Given the description of an element on the screen output the (x, y) to click on. 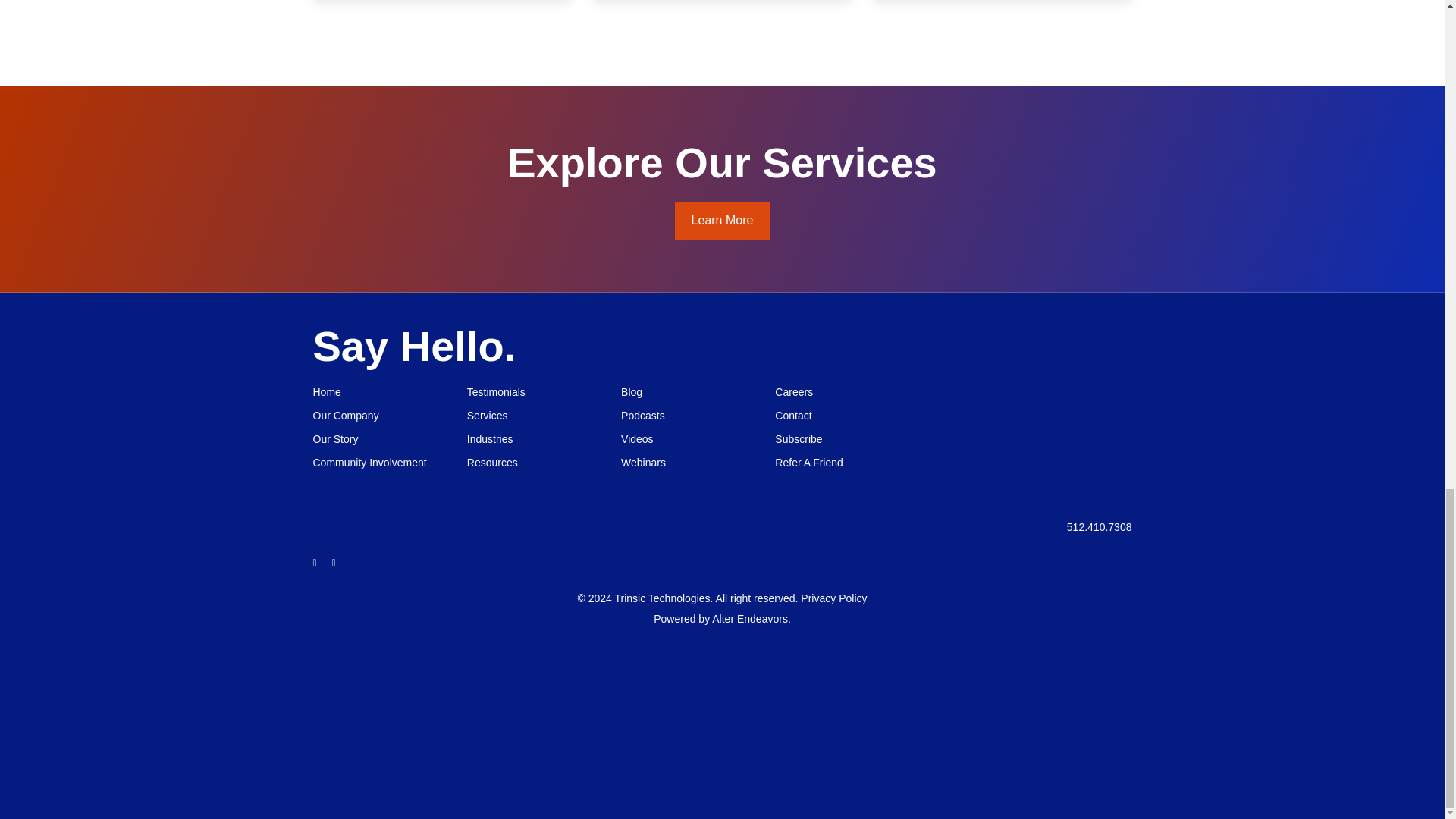
Home (374, 388)
Our Company (374, 412)
Learn More (722, 220)
